Given the description of an element on the screen output the (x, y) to click on. 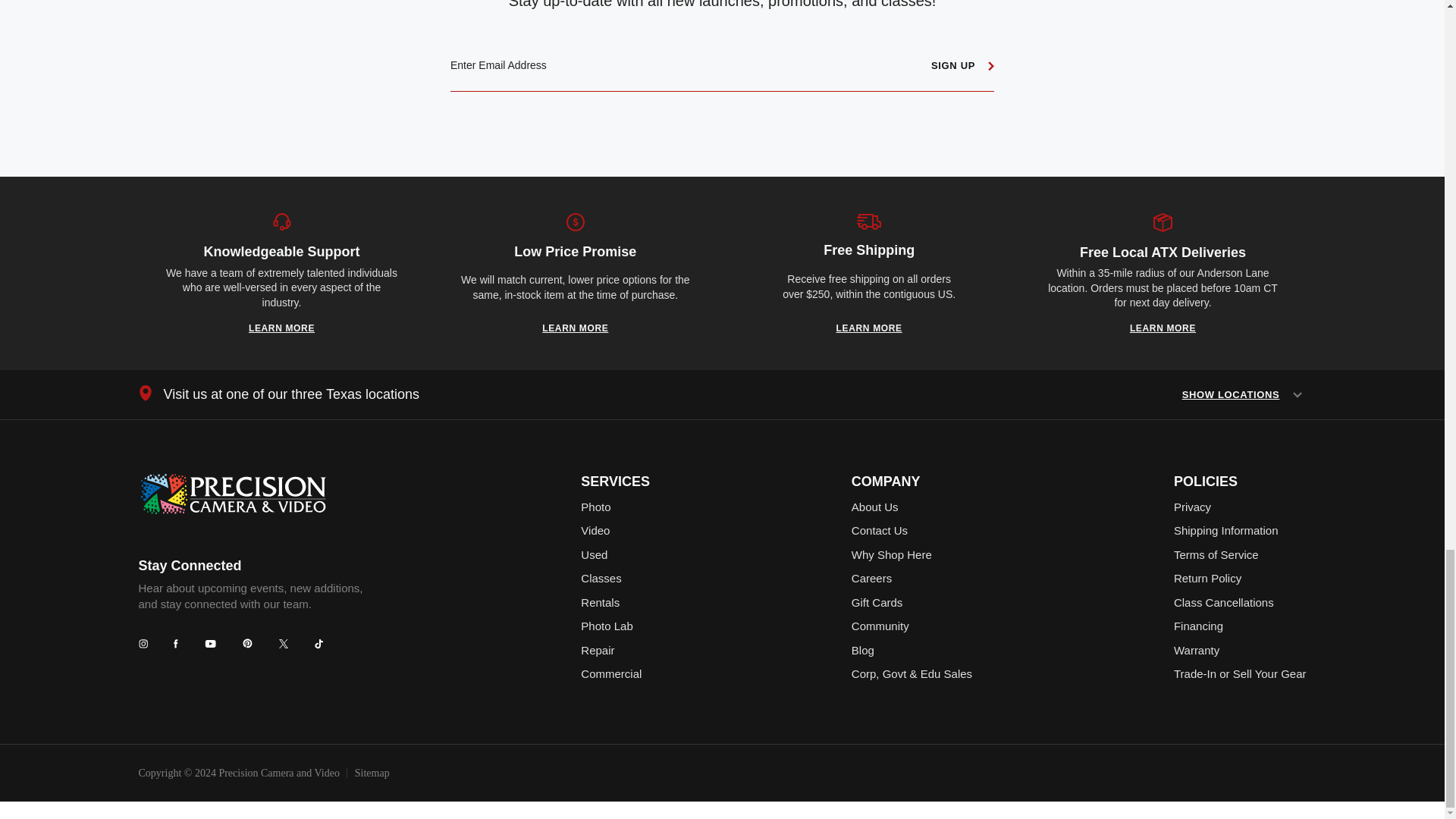
Instagram (142, 643)
Link for Low Price (574, 327)
Link for Support (281, 327)
Link for Free Shipping (868, 327)
Youtube (210, 643)
Link for Deliveries (1162, 327)
